Given the description of an element on the screen output the (x, y) to click on. 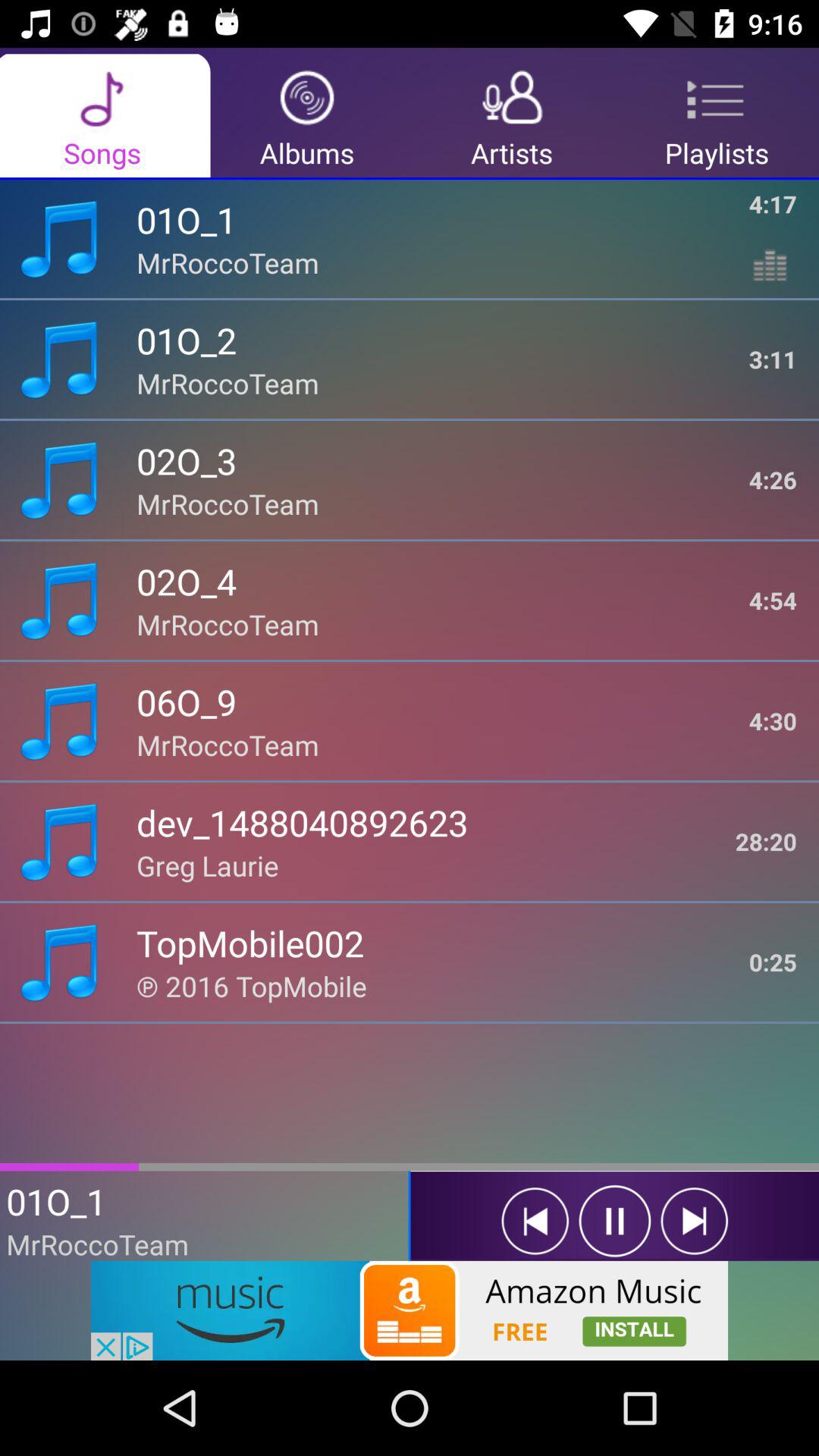
play next song (694, 1220)
